Given the description of an element on the screen output the (x, y) to click on. 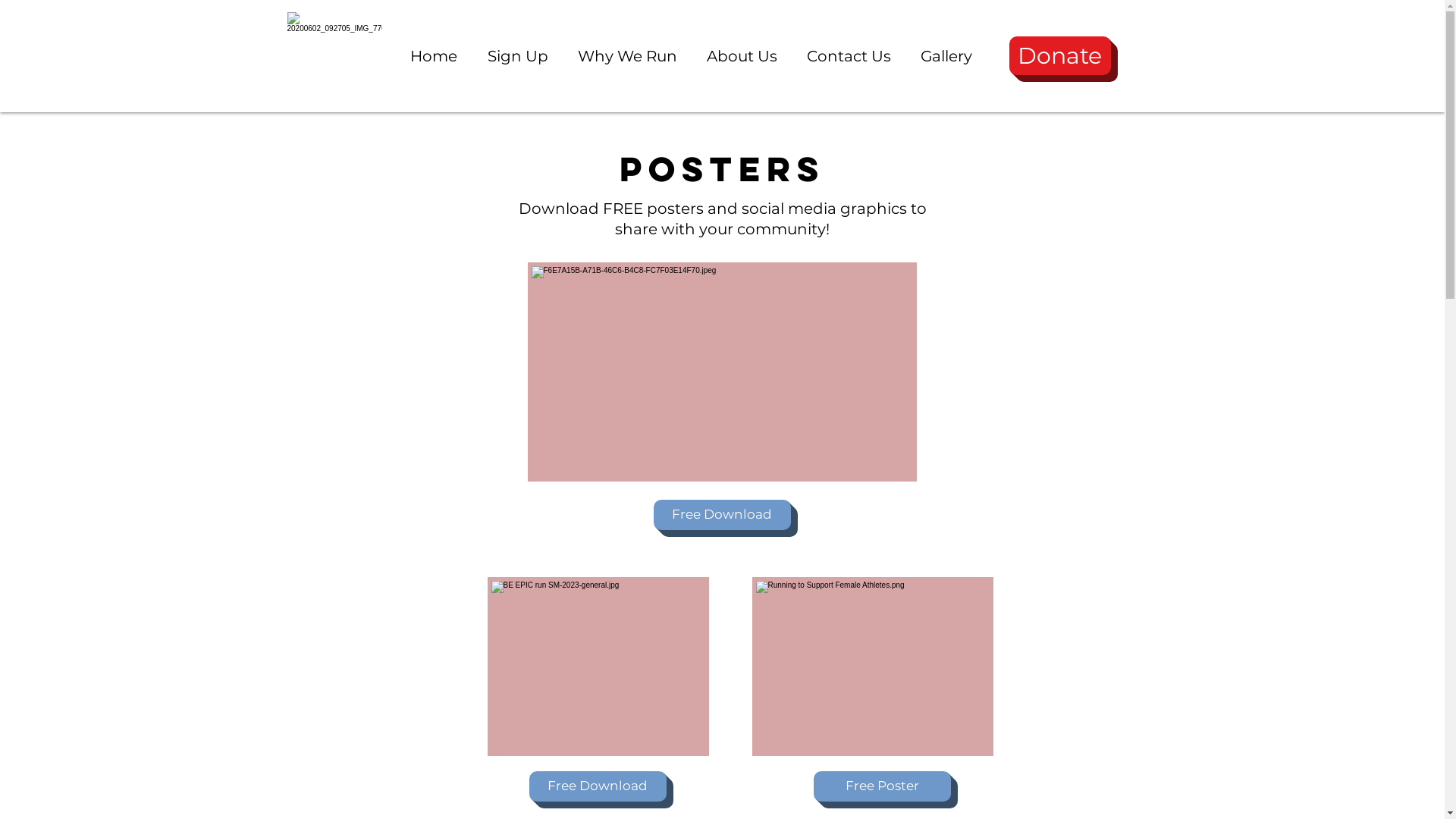
Gallery Element type: text (948, 47)
Home Element type: text (437, 47)
Why We Run Element type: text (629, 47)
Free Download Element type: text (721, 514)
Contact Us Element type: text (851, 47)
About Us Element type: text (744, 47)
Donate Element type: text (1059, 55)
Sign Up Element type: text (521, 47)
Free Poster Element type: text (881, 786)
Free Download Element type: text (597, 786)
